Given the description of an element on the screen output the (x, y) to click on. 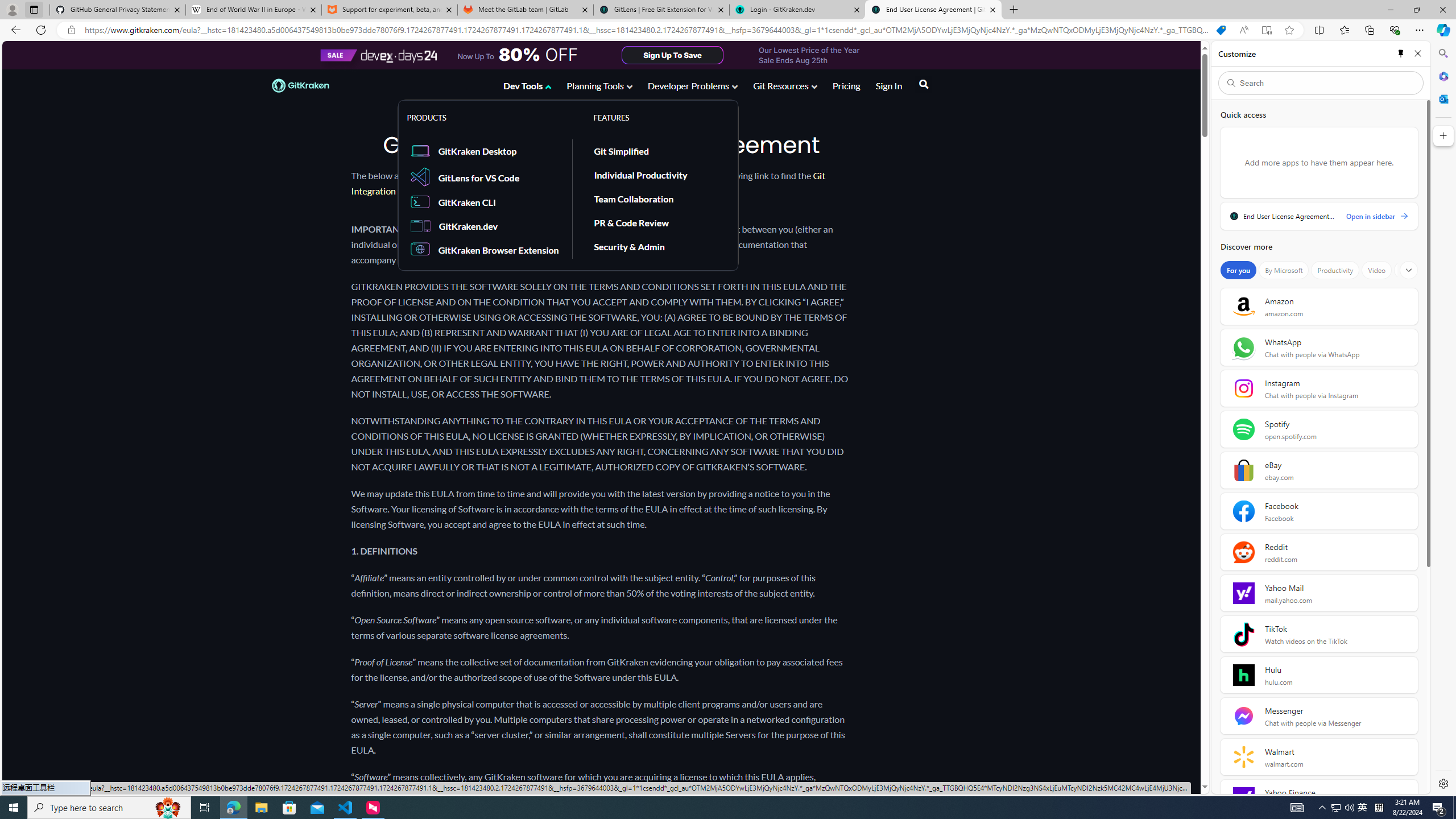
Git Integration for Jira EULA (587, 183)
Git Simplified (656, 150)
Individual Productivity (640, 174)
Sign In (888, 87)
Individual Productivity (656, 174)
End User License Agreement | GitKraken (933, 9)
End of World War II in Europe - Wikipedia (253, 9)
